Given the description of an element on the screen output the (x, y) to click on. 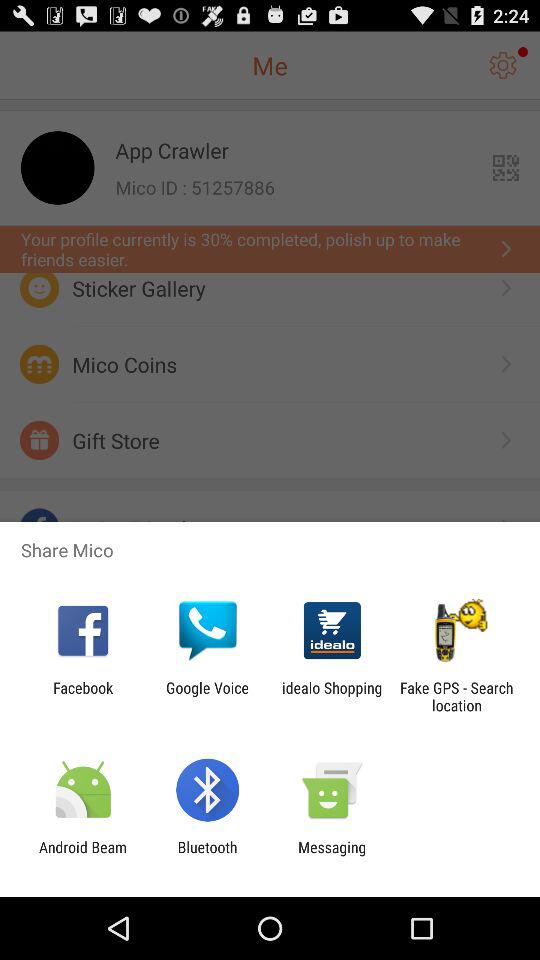
launch app next to idealo shopping item (456, 696)
